Given the description of an element on the screen output the (x, y) to click on. 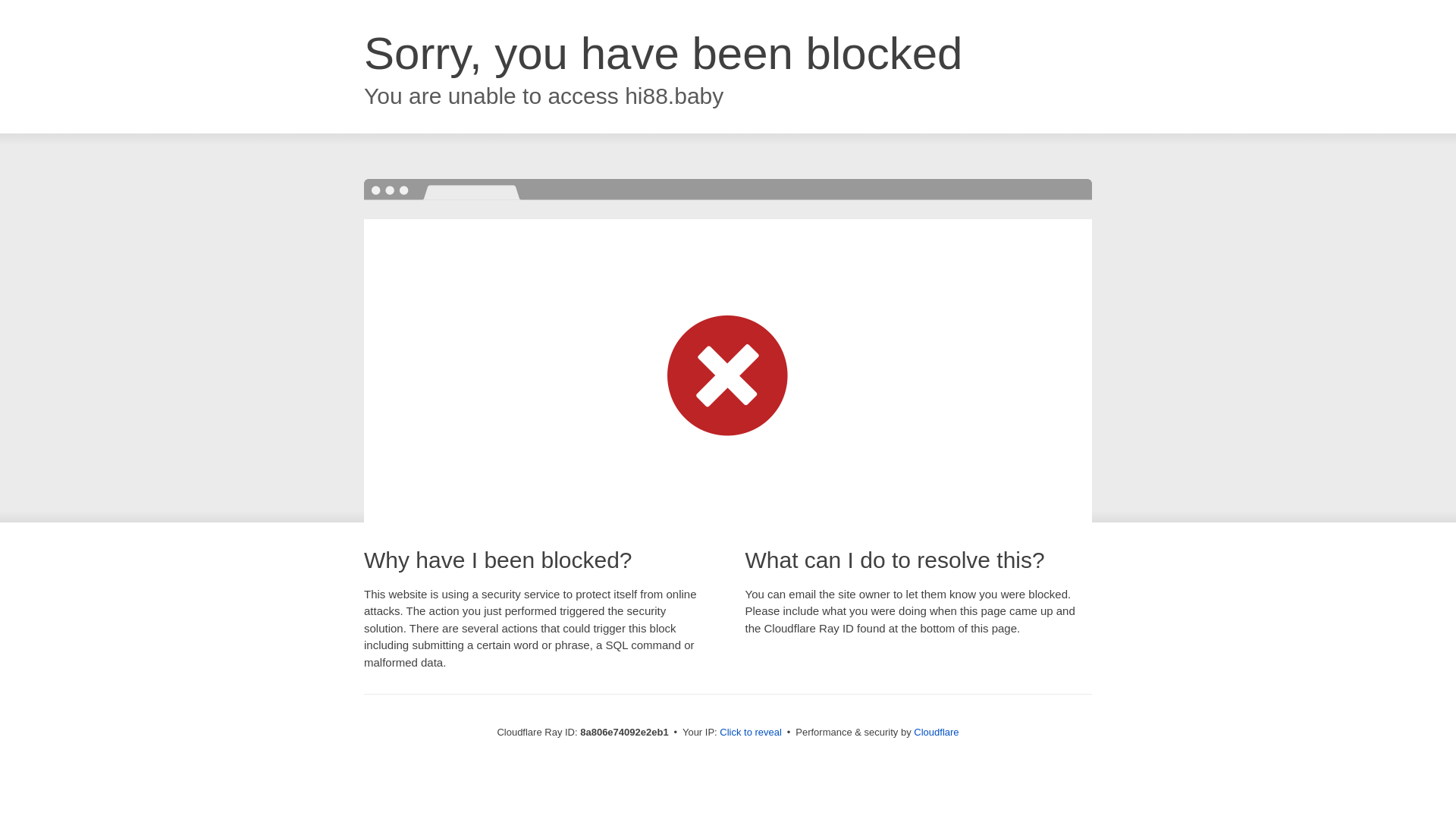
Cloudflare (936, 731)
Click to reveal (750, 732)
